Given the description of an element on the screen output the (x, y) to click on. 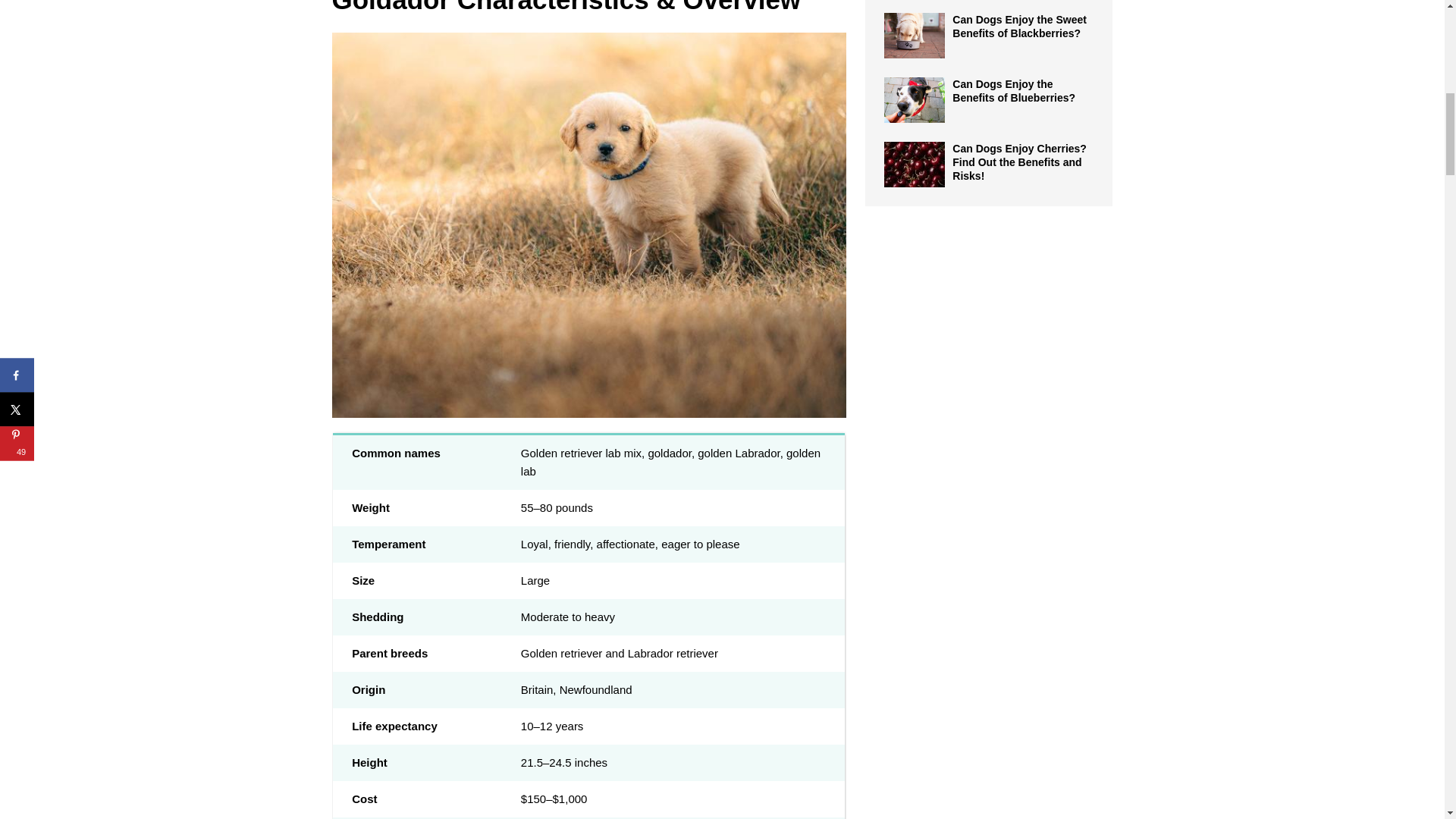
Can Dogs Enjoy the Benefits of Blueberries? (913, 99)
Can Dogs Enjoy the Sweet Benefits of Blackberries? (1019, 26)
Can Dogs Enjoy the Sweet Benefits of Blackberries? (913, 35)
Can Dogs Enjoy the Benefits of Blueberries? (1013, 90)
Can Dogs Enjoy Cherries? Find Out the Benefits and Risks! (1019, 161)
Can Dogs Enjoy Cherries? Find Out the Benefits and Risks! (913, 164)
